Given the description of an element on the screen output the (x, y) to click on. 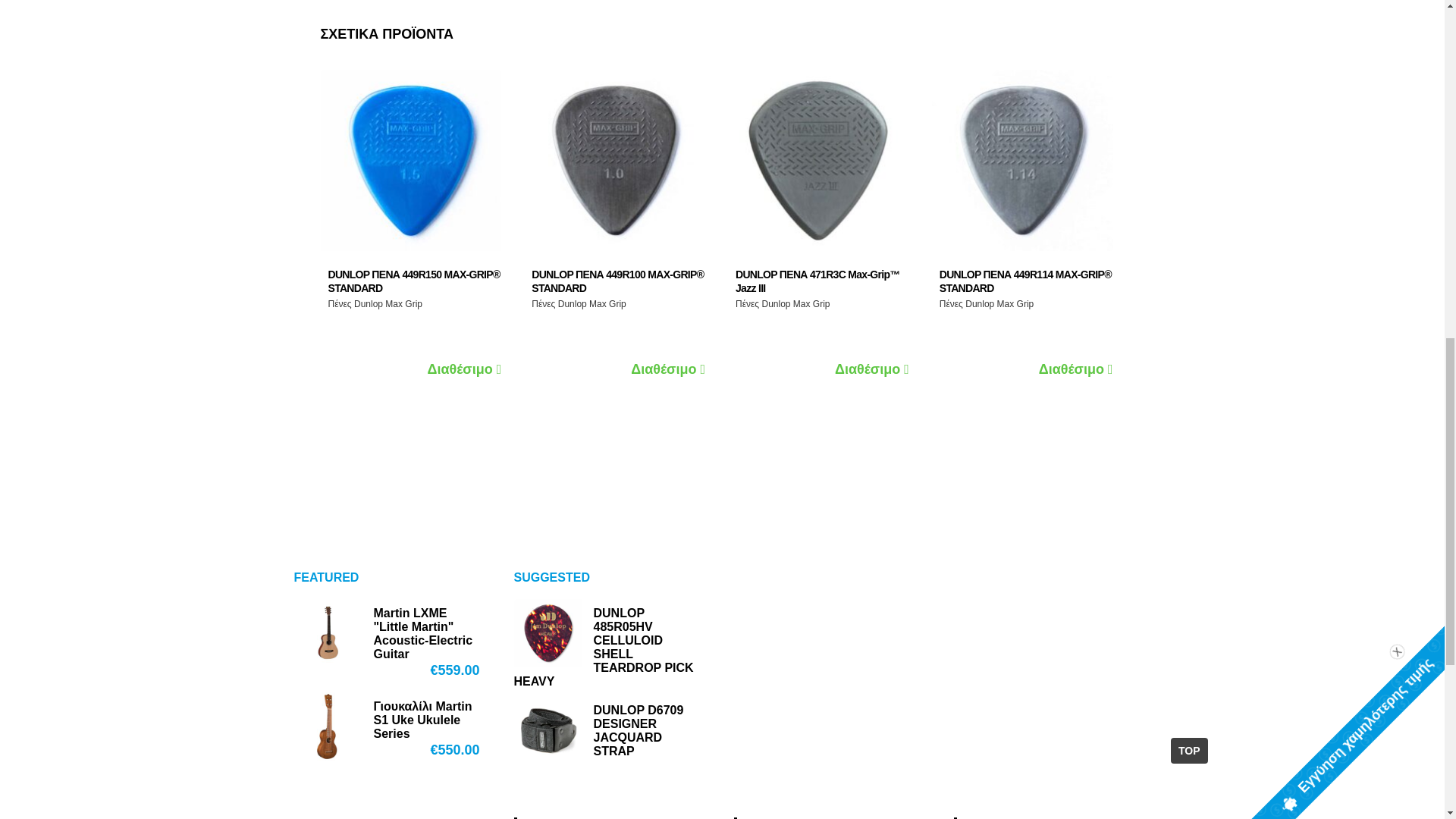
DUNLOP D6709 DESIGNER JACQUARD STRAP (608, 730)
DUNLOP 485R05HV CELLULOID SHELL TEARDROP PICK HEAVY (608, 647)
